Given the description of an element on the screen output the (x, y) to click on. 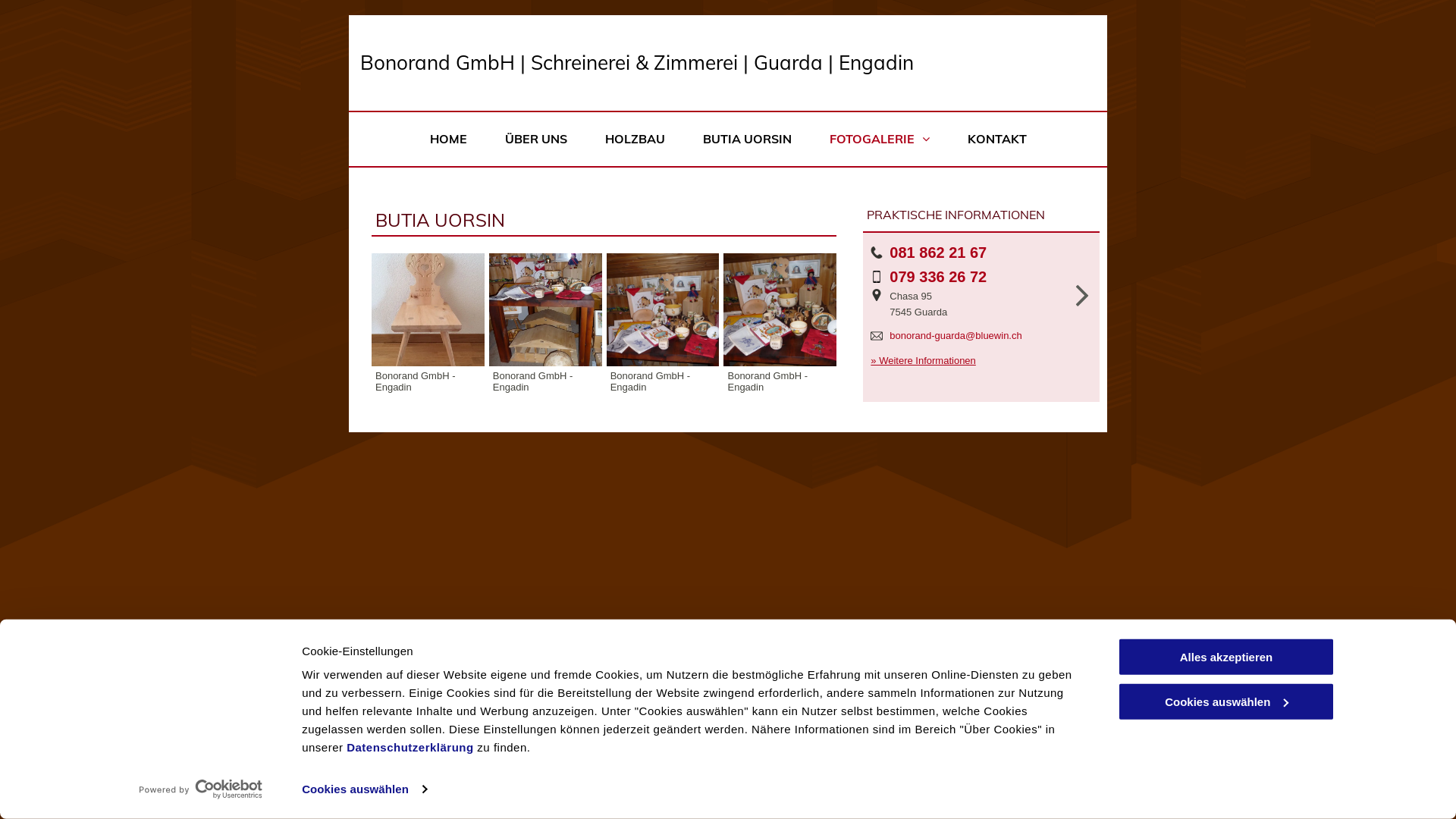
Bonorand GmbH - Engadin Element type: hover (779, 309)
HOLZBAU Element type: text (634, 139)
HOME Element type: text (448, 139)
Alles akzeptieren Element type: text (1225, 656)
bonorand-guarda@bluewin.ch Element type: text (955, 335)
Bonorand GmbH - Engadin Element type: hover (545, 309)
FOTOGALERIE Element type: text (878, 139)
Bonorand GmbH - Engadin Element type: hover (427, 309)
fb:like Facebook Social Plugin Element type: hover (386, 701)
079 336 26 72 Element type: text (937, 276)
Bonorand GmbH | Schreinerei & Zimmerei | Guarda | Engadin Element type: text (636, 62)
081 862 21 67 Element type: text (937, 252)
BUTIA UORSIN Element type: text (747, 139)
Bonorand GmbH - Engadin Element type: hover (662, 309)
KONTAKT Element type: text (995, 139)
081 862 21 67 Element type: text (583, 745)
zum Formular Element type: text (582, 713)
Impressum Element type: text (1067, 768)
